Given the description of an element on the screen output the (x, y) to click on. 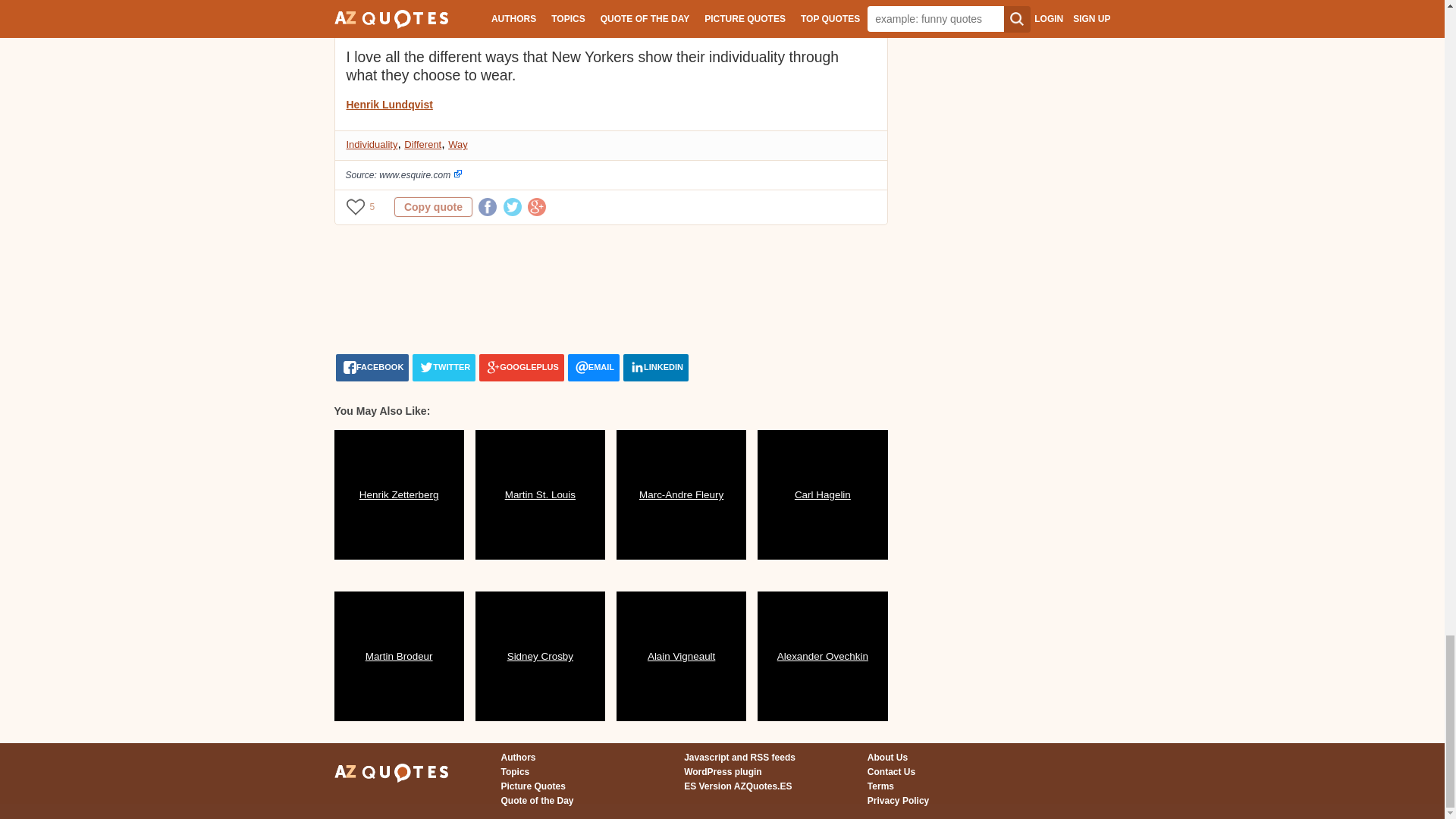
Quote is copied (432, 207)
Advertisement (609, 289)
Quote is copied (432, 2)
